Given the description of an element on the screen output the (x, y) to click on. 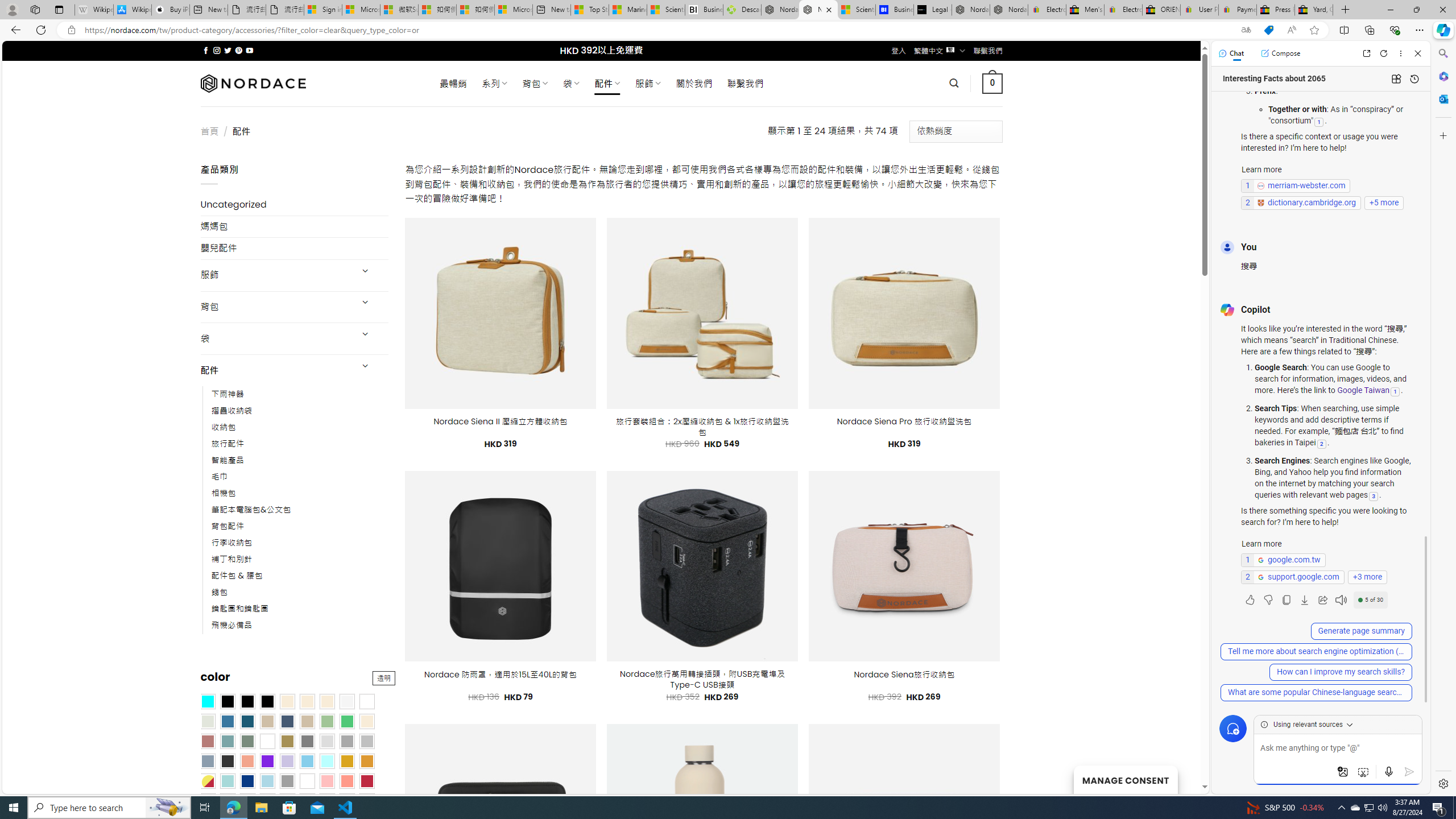
Follow on Instagram (216, 50)
Buy iPad - Apple (171, 9)
